Given the description of an element on the screen output the (x, y) to click on. 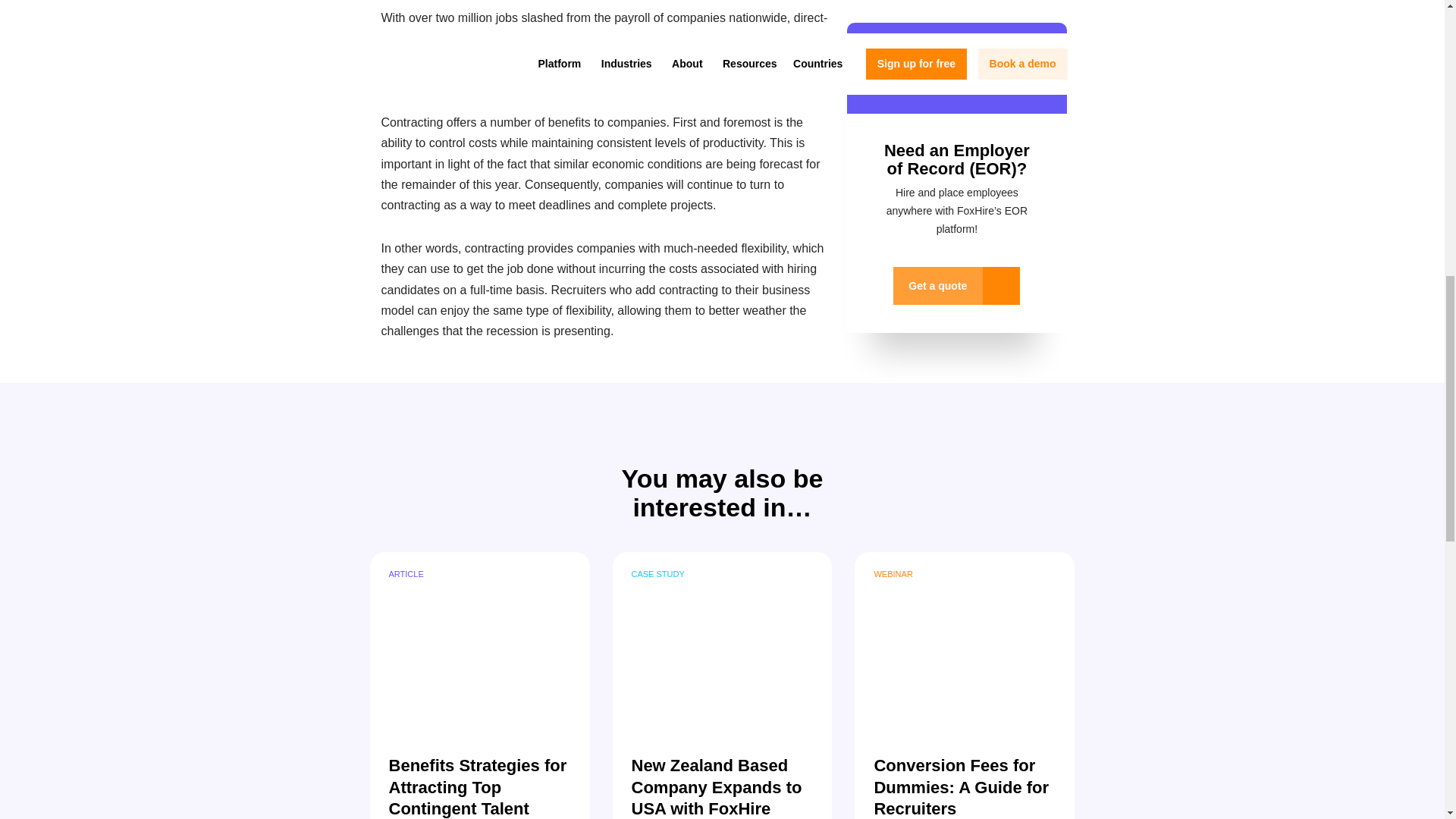
Benefits Strategies for Attracting Top Contingent Talent (479, 640)
Conversion Fees for Dummies: A Guide for Recruiters (964, 640)
New Zealand Based Company Expands to USA with FoxHire (722, 640)
